Given the description of an element on the screen output the (x, y) to click on. 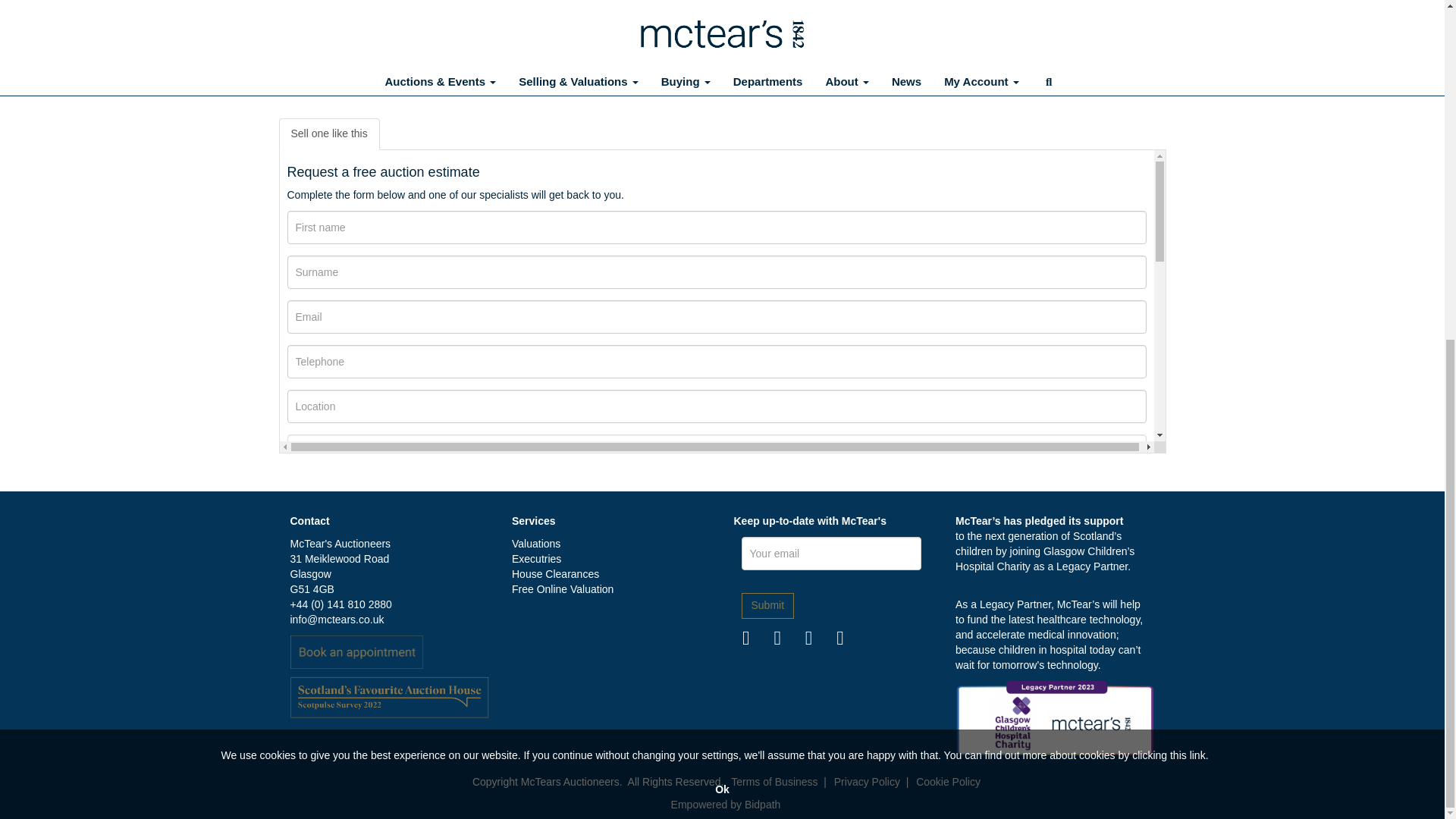
Submit (767, 605)
